Given the description of an element on the screen output the (x, y) to click on. 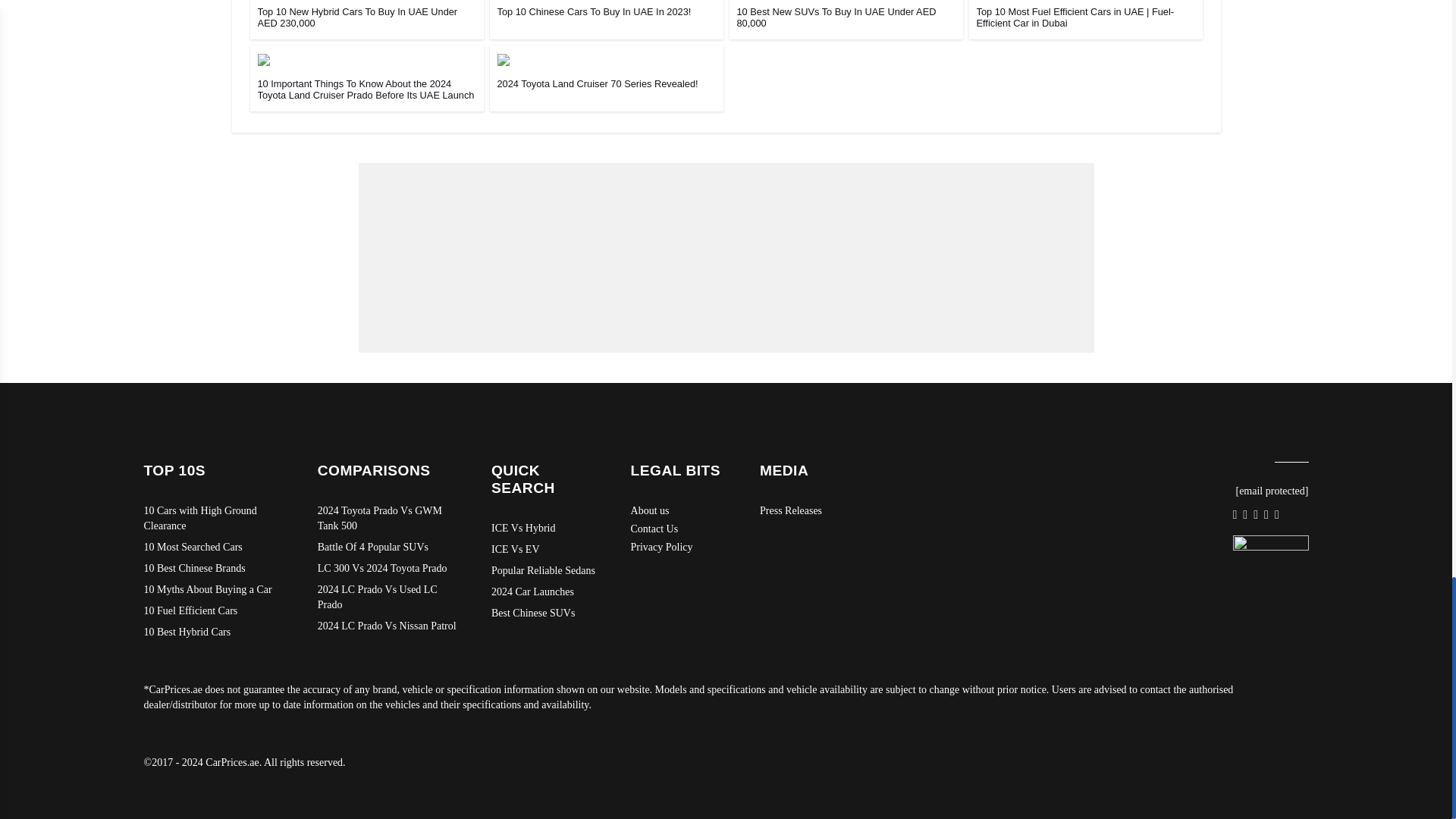
10 Most Searched Cars (215, 547)
10 Best Chinese Brands (215, 568)
10 Cars with High Ground Clearance (215, 518)
10 Myths About Buying a Car (215, 589)
